Given the description of an element on the screen output the (x, y) to click on. 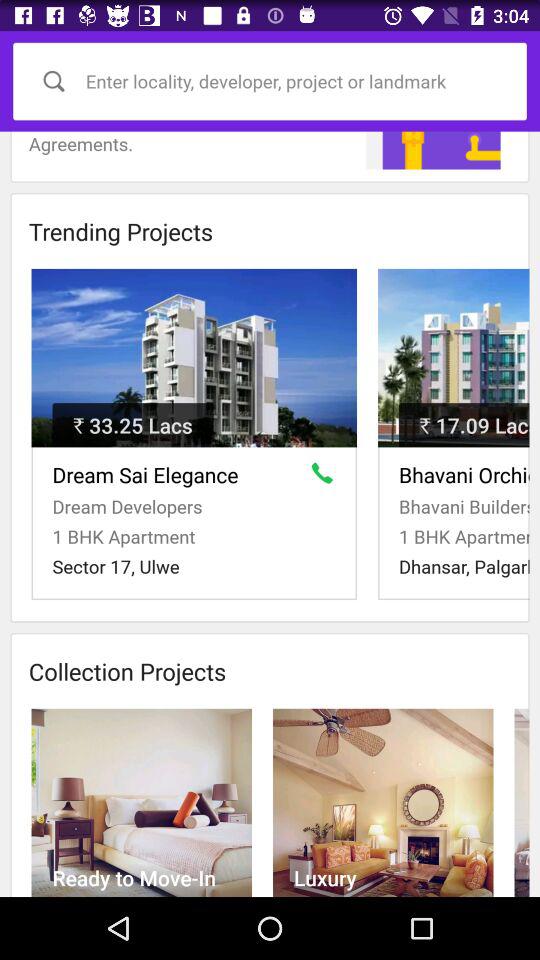
call this project (326, 477)
